Given the description of an element on the screen output the (x, y) to click on. 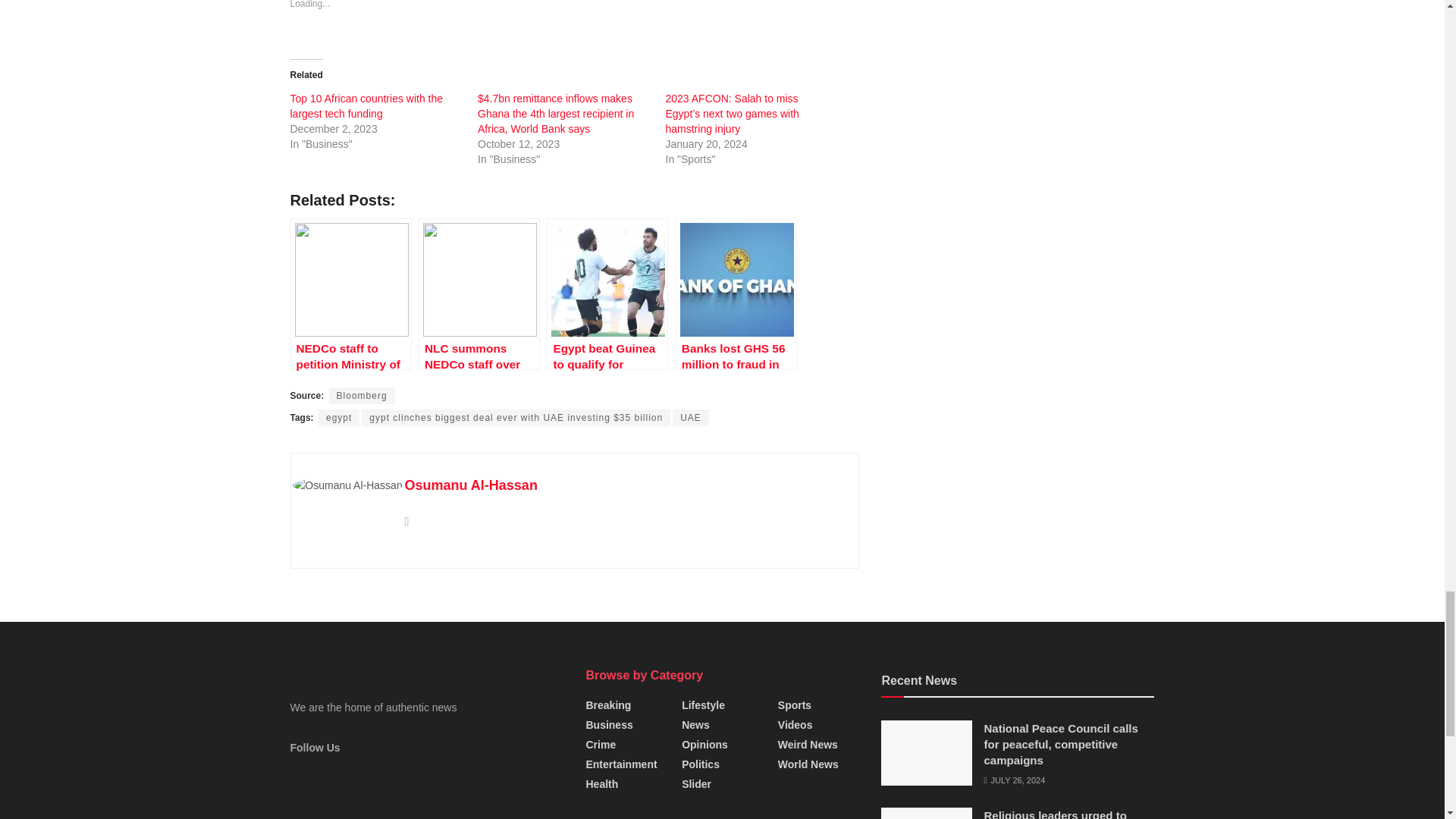
Top 10 African countries with the largest tech funding (365, 105)
